Given the description of an element on the screen output the (x, y) to click on. 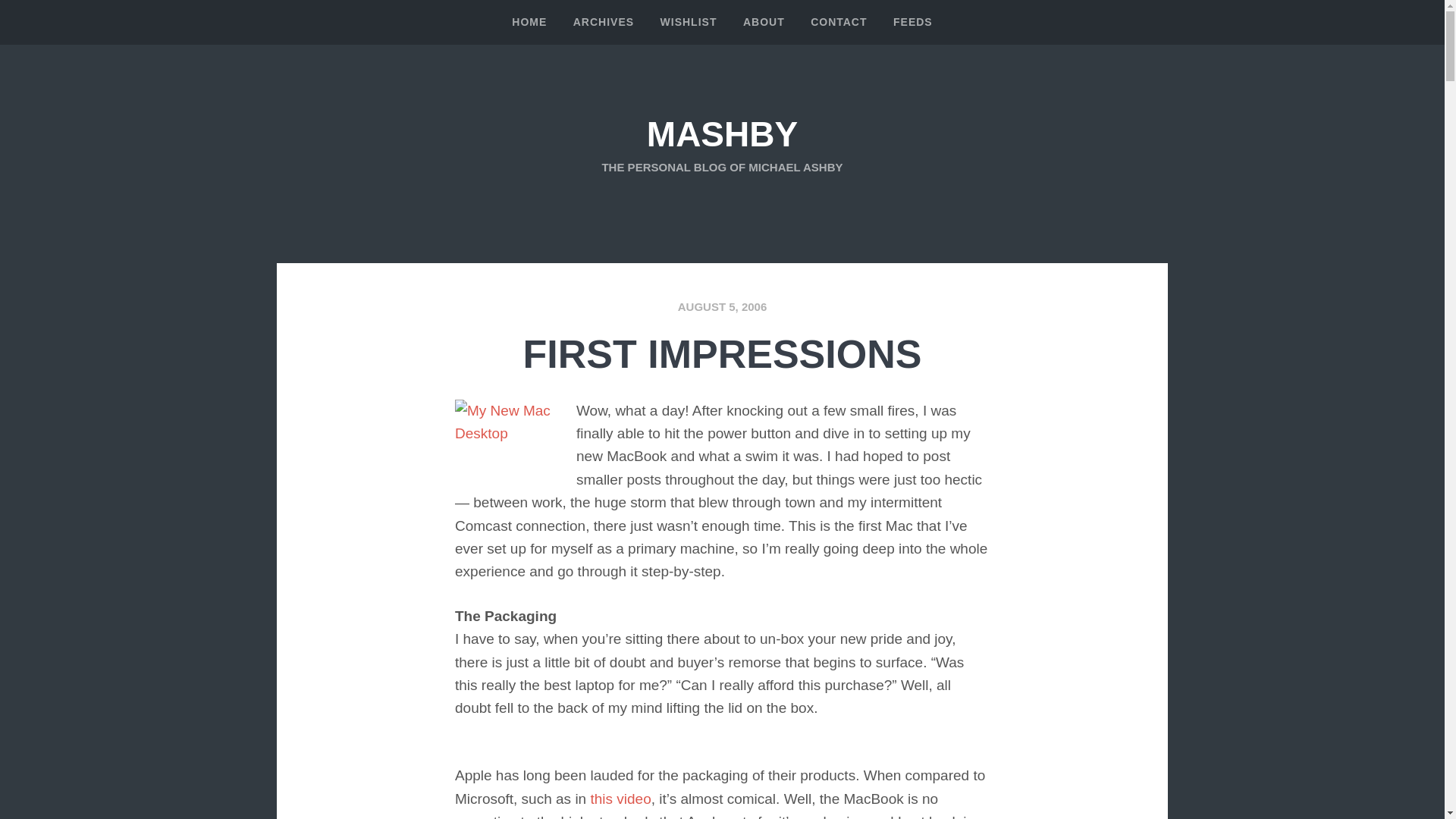
FIRST IMPRESSIONS (721, 353)
ARCHIVES (603, 22)
CONTACT (838, 22)
MASHBY (721, 133)
AUGUST 5, 2006 (722, 306)
First Impressions (721, 353)
WISHLIST (689, 22)
FEEDS (912, 22)
this video (619, 798)
HOME (528, 22)
